Given the description of an element on the screen output the (x, y) to click on. 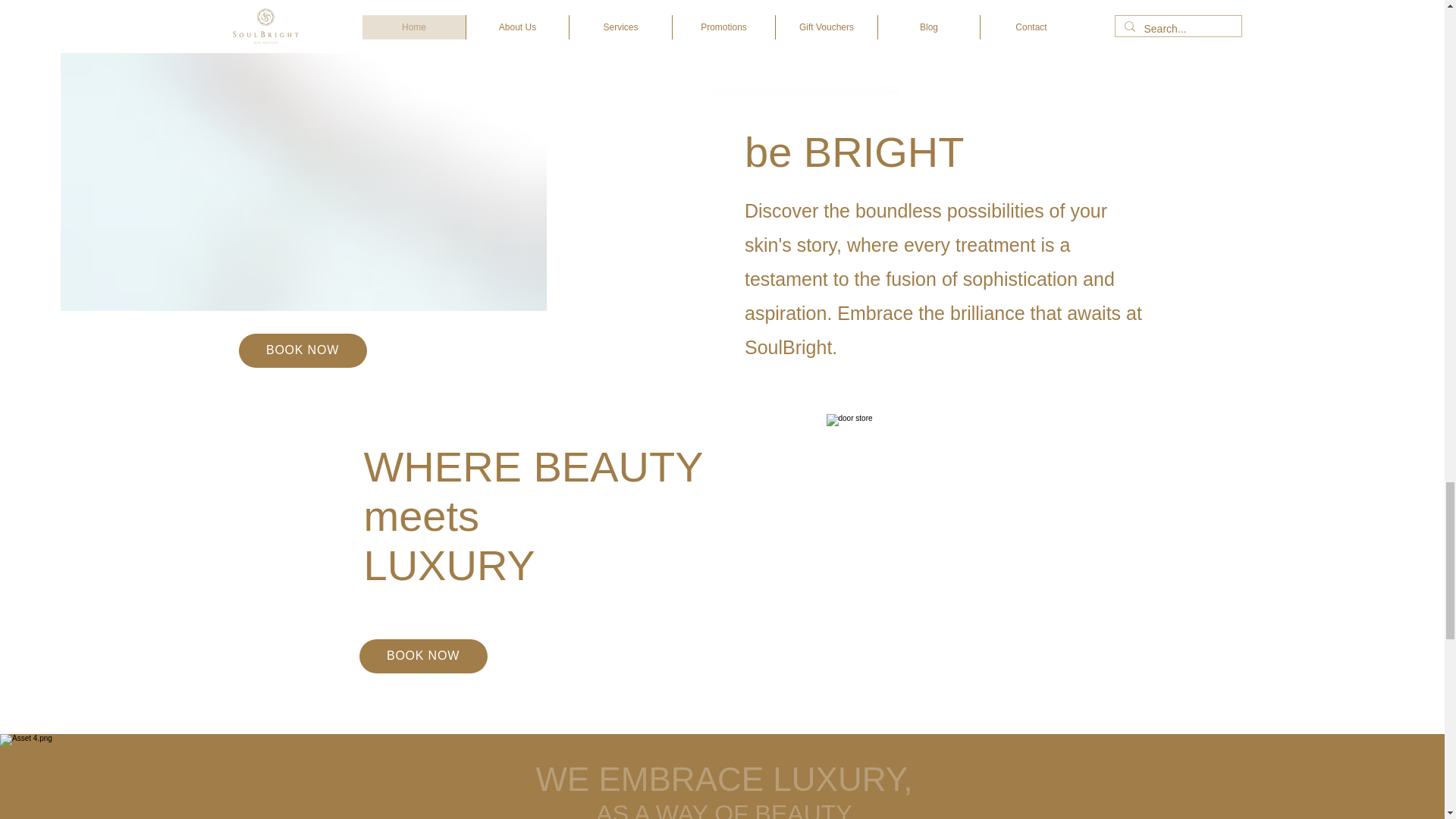
BOOK NOW (302, 350)
BOOK NOW (423, 656)
